Given the description of an element on the screen output the (x, y) to click on. 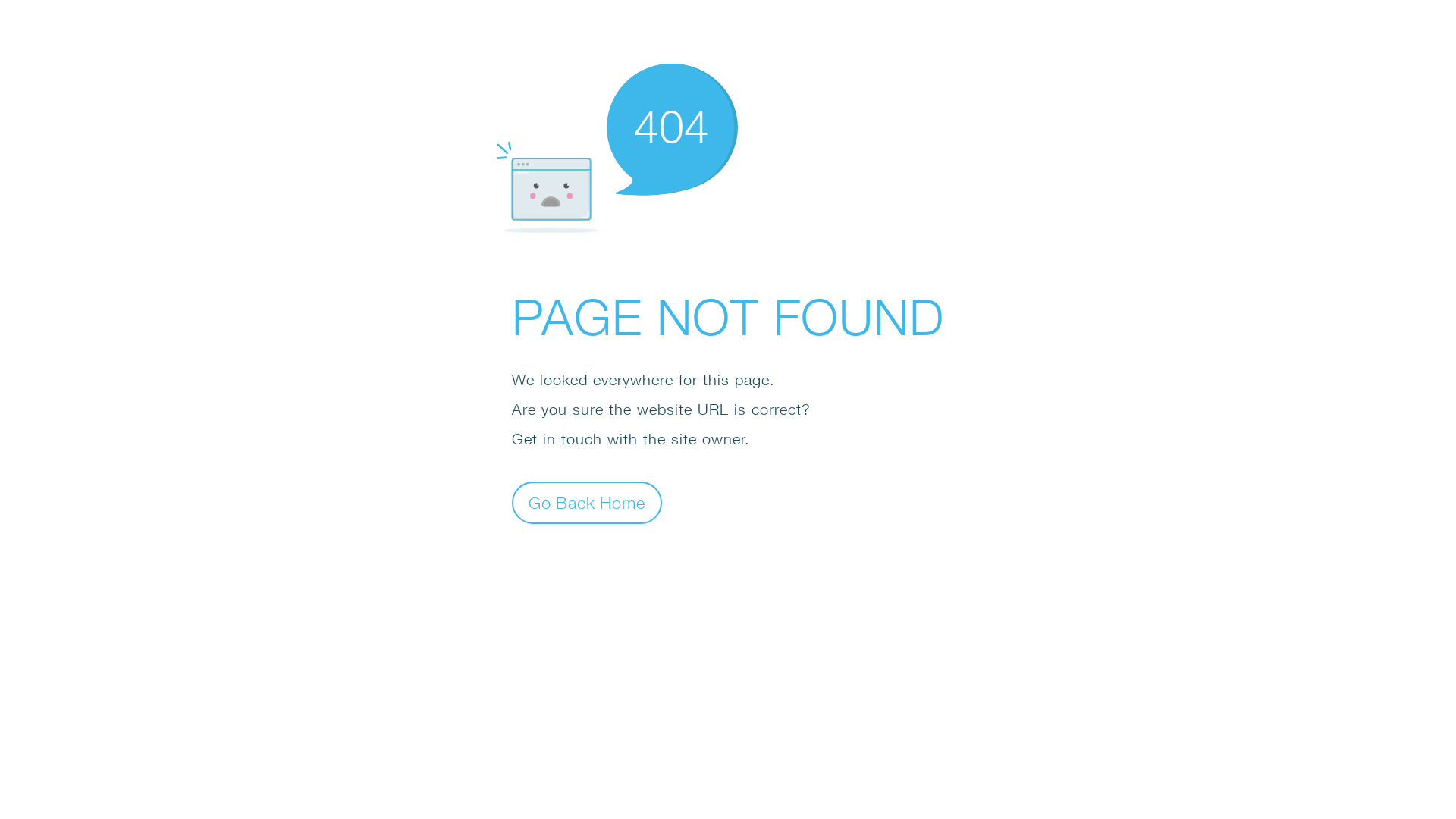
Go Back Home Element type: text (586, 502)
